Given the description of an element on the screen output the (x, y) to click on. 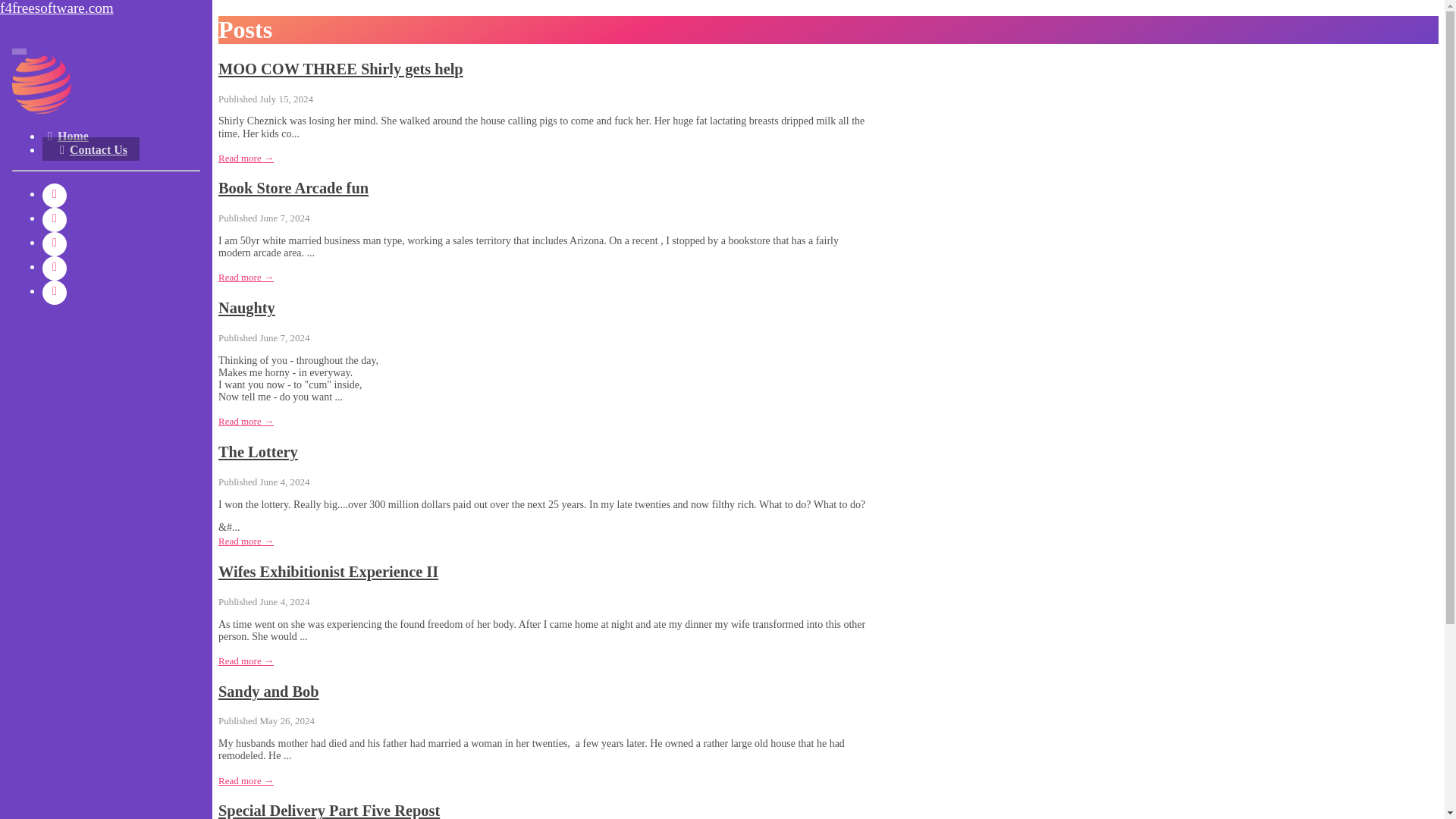
Wifes Exhibitionist Experience II (328, 571)
Sandy and Bob (268, 691)
f4freesoftware.com (106, 8)
Book Store Arcade fun (293, 187)
Naughty (246, 307)
The Lottery (258, 451)
Special Delivery Part Five Repost (328, 810)
MOO COW THREE Shirly gets help (340, 68)
Contact Us (90, 148)
